Given the description of an element on the screen output the (x, y) to click on. 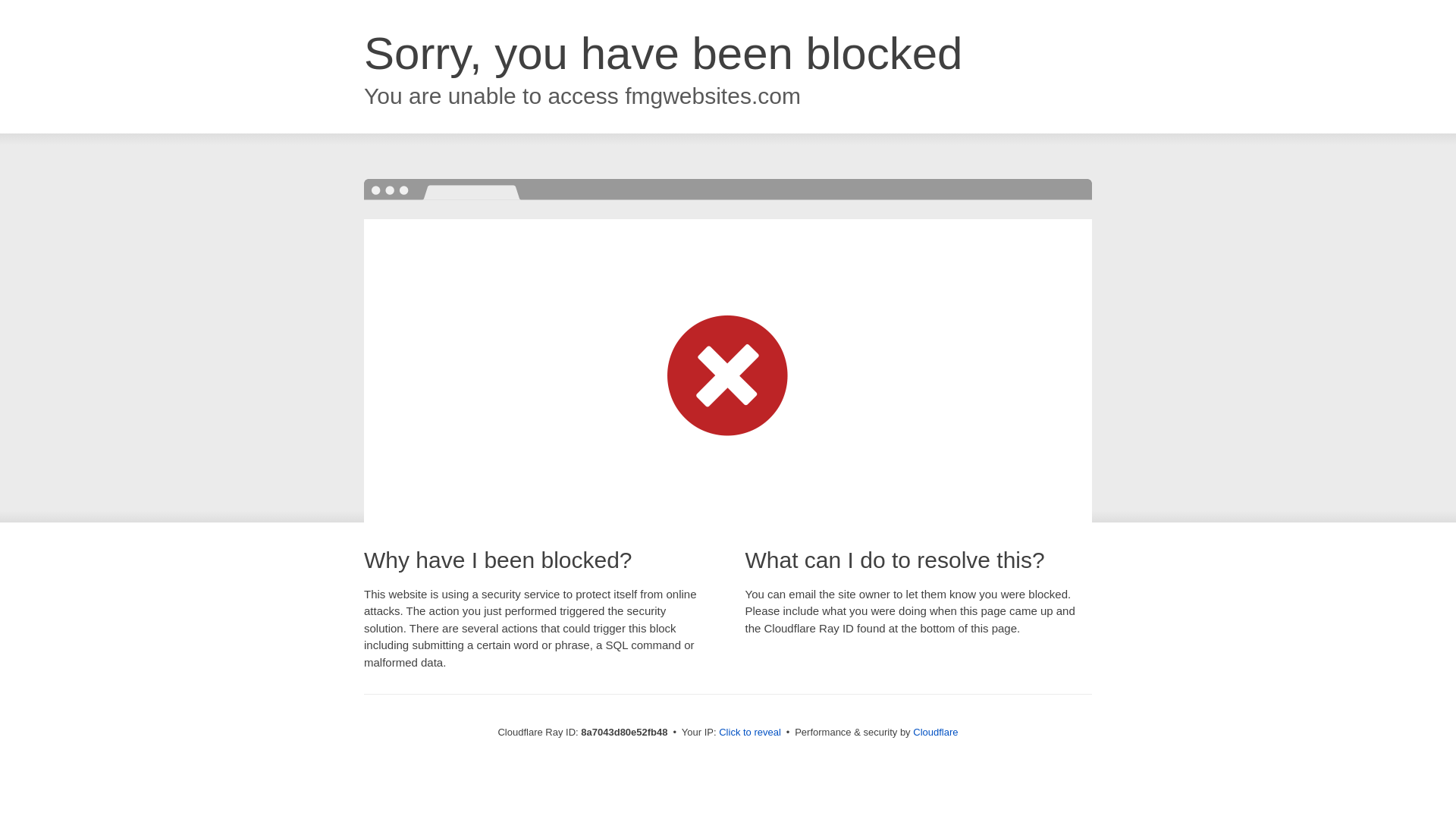
Click to reveal (749, 732)
Cloudflare (935, 731)
